Given the description of an element on the screen output the (x, y) to click on. 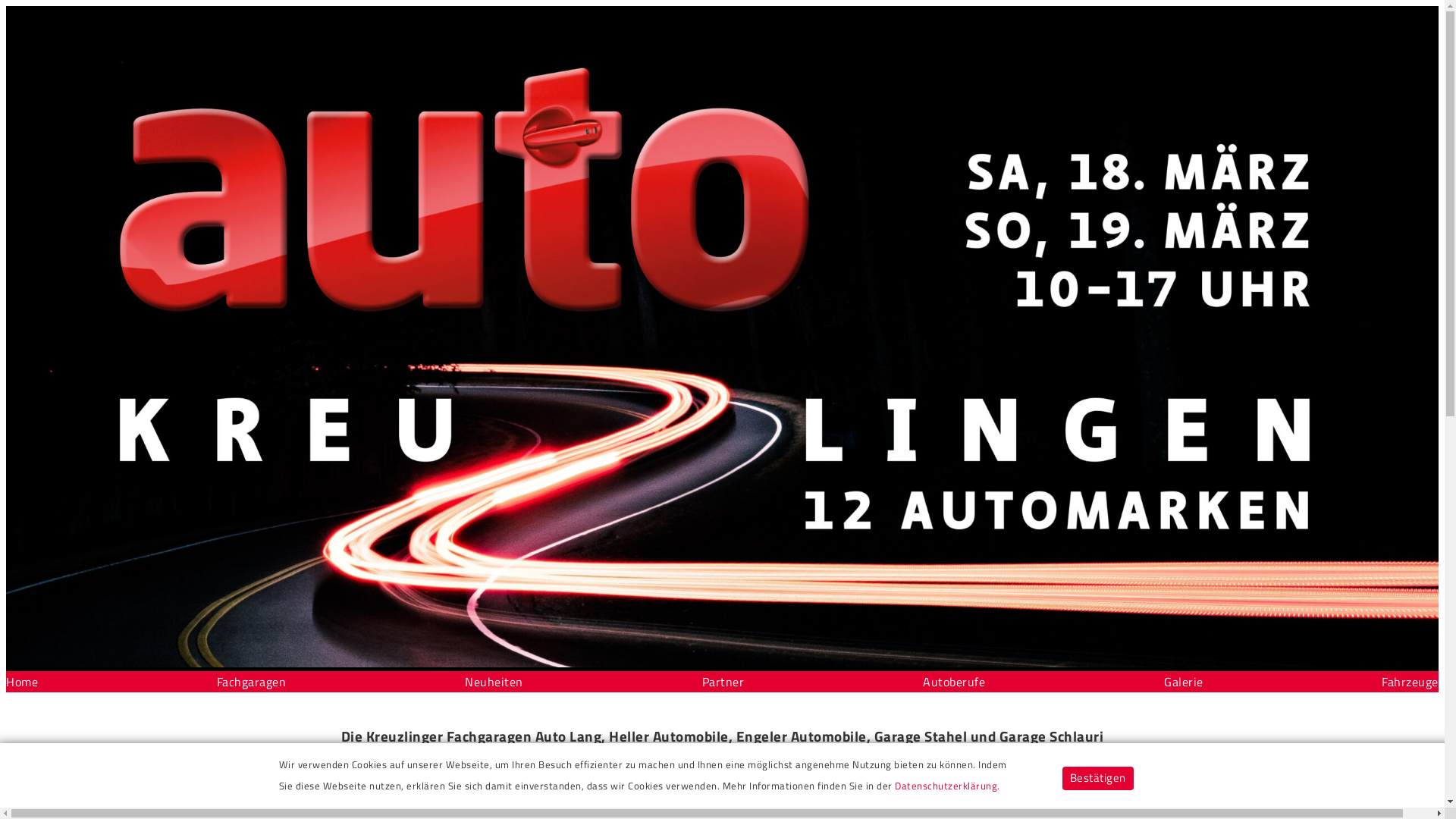
Galerie Element type: text (1183, 681)
Autoberufe Element type: text (953, 681)
Home Element type: text (21, 681)
Fachgaragen Element type: text (251, 681)
Neuheiten Element type: text (493, 681)
Fahrzeuge Element type: text (1409, 681)
Partner Element type: text (723, 681)
